Given the description of an element on the screen output the (x, y) to click on. 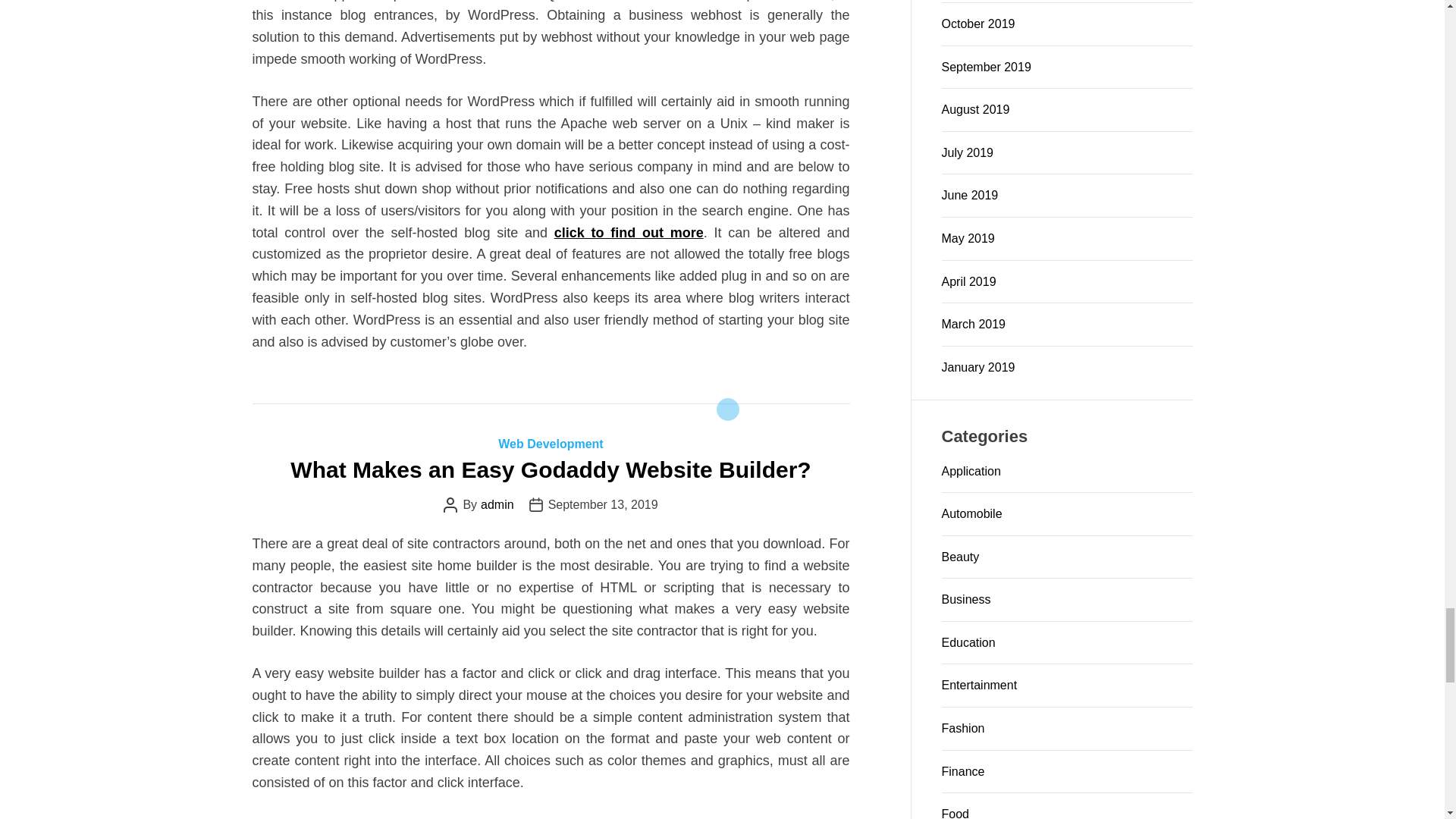
admin (496, 504)
click to find out more (628, 232)
Web Development (549, 443)
What Makes an Easy Godaddy Website Builder? (549, 469)
